Given the description of an element on the screen output the (x, y) to click on. 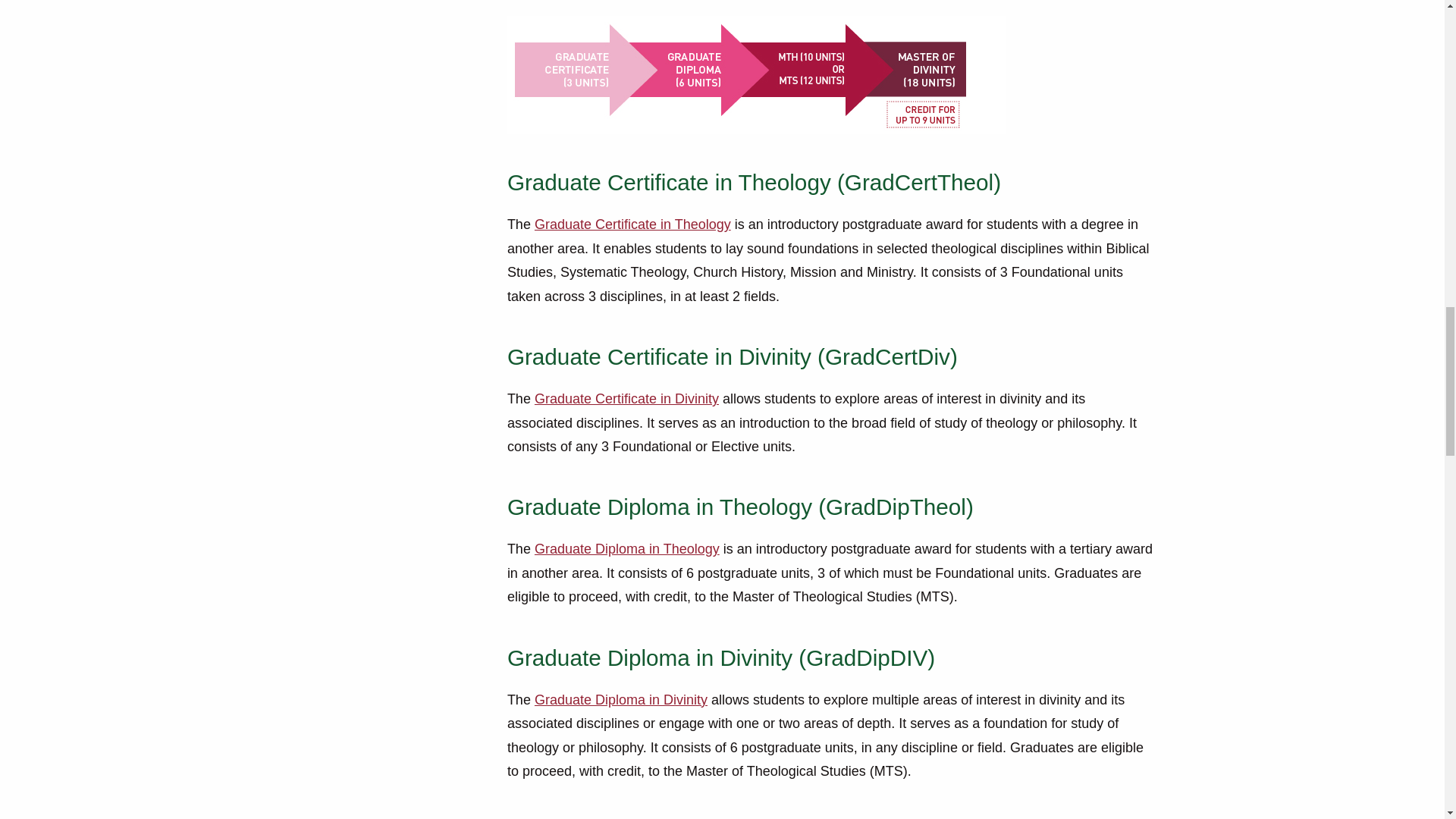
GradCertDiv (626, 399)
GradCertTheol (632, 225)
Graduate Diploma in Theology (626, 549)
